Given the description of an element on the screen output the (x, y) to click on. 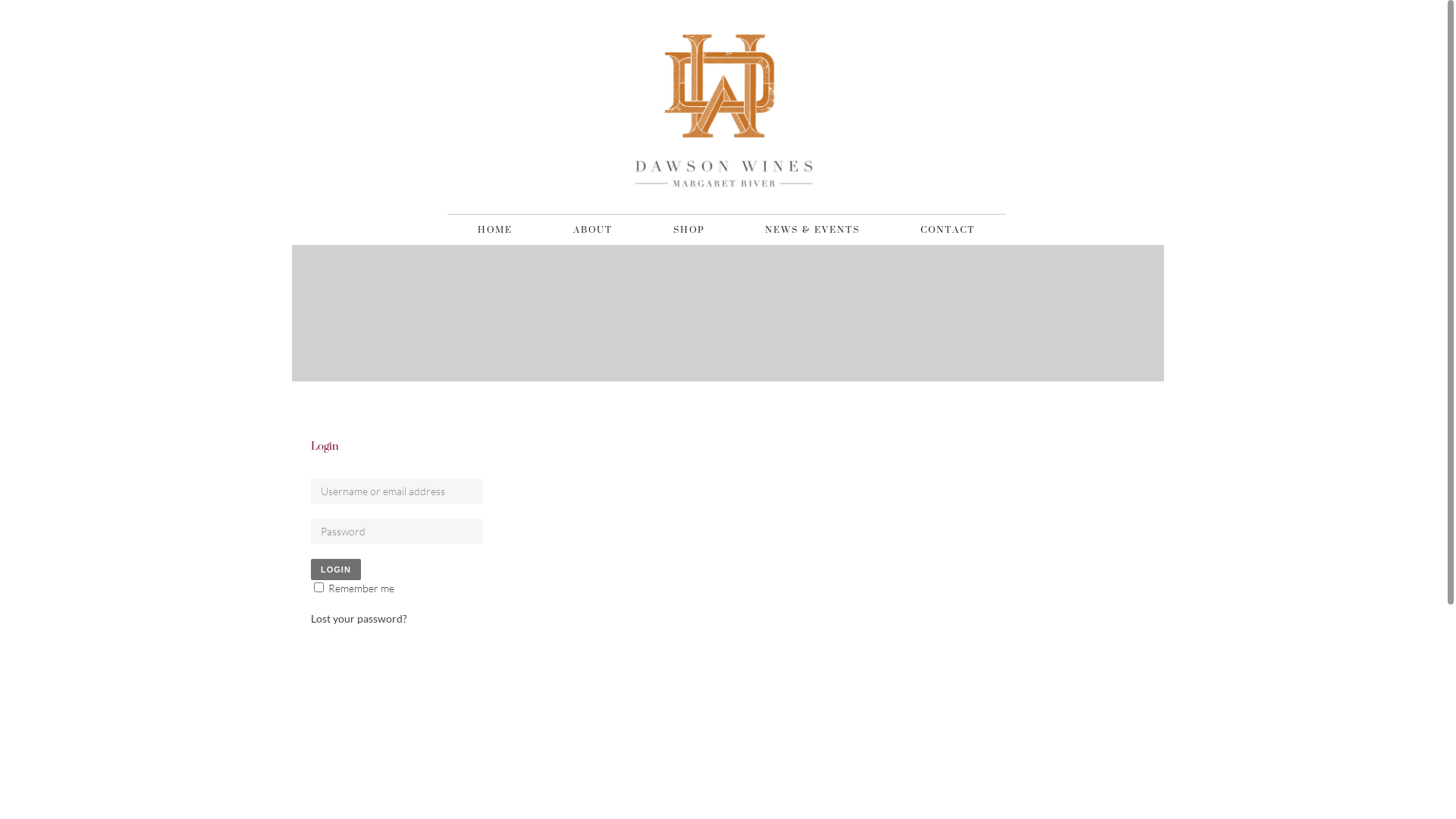
Lost your password? Element type: text (358, 617)
SHOP Element type: text (688, 229)
Login Element type: text (335, 569)
CONTACT Element type: text (947, 229)
NEWS & EVENTS Element type: text (812, 229)
ABOUT Element type: text (592, 229)
HOME Element type: text (494, 229)
